Given the description of an element on the screen output the (x, y) to click on. 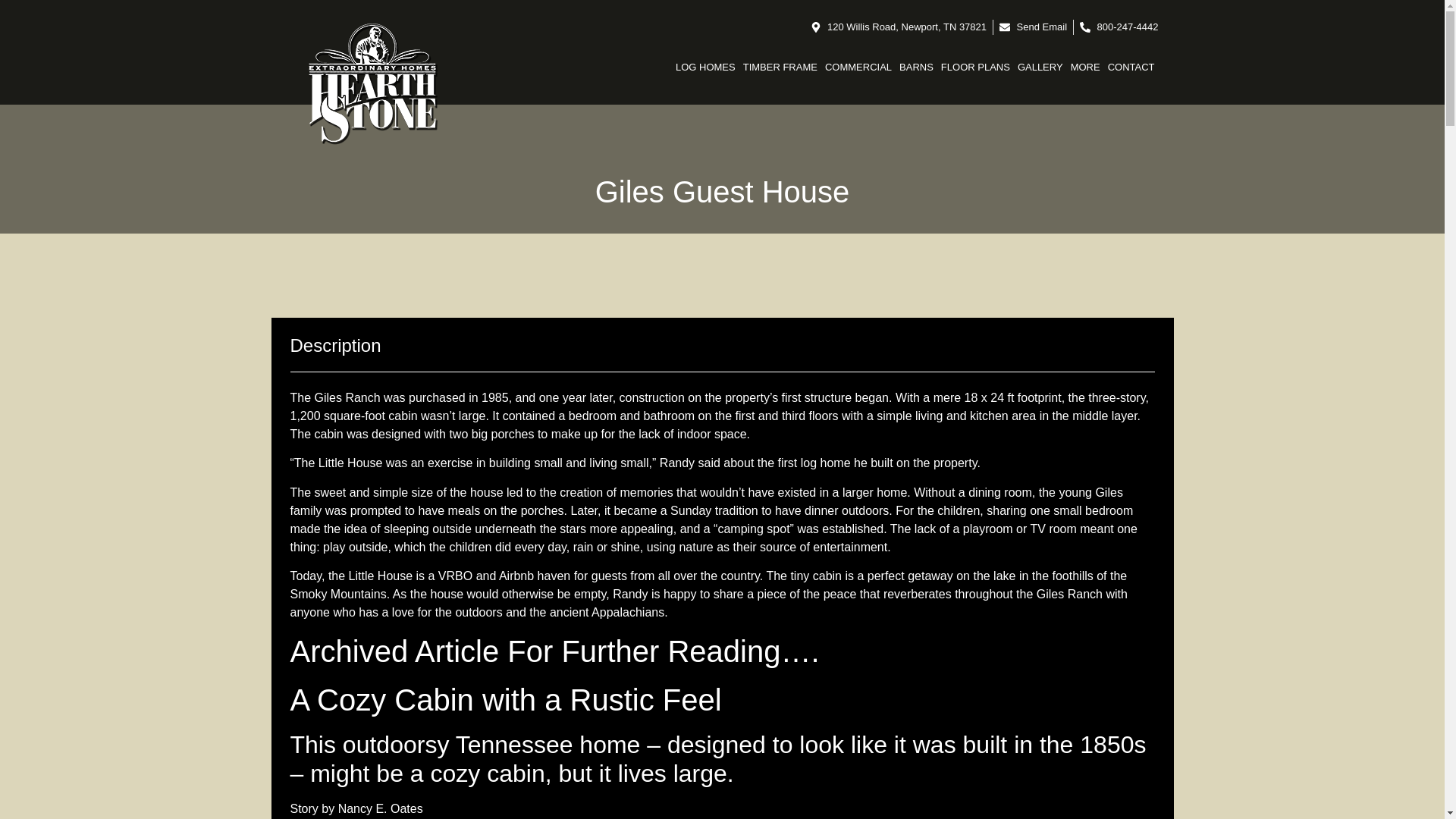
FLOOR PLANS (975, 67)
GALLERY (1040, 67)
CONTACT (1130, 67)
COMMERCIAL (858, 67)
BARNS (916, 67)
LOG HOMES (705, 67)
TIMBER FRAME (780, 67)
MORE (1085, 67)
